Given the description of an element on the screen output the (x, y) to click on. 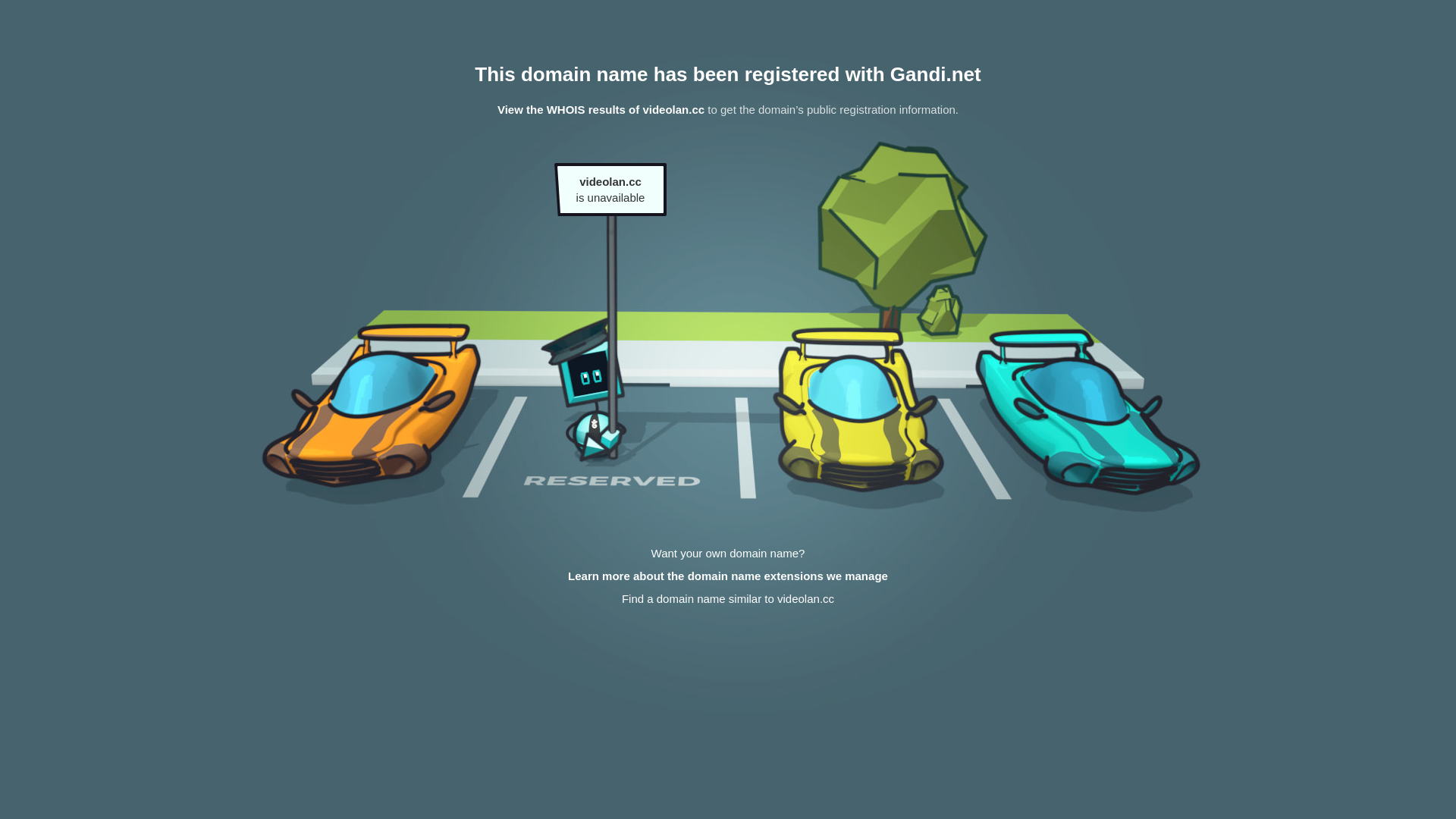
View the WHOIS results of videolan.cc Element type: text (600, 109)
Learn more about the domain name extensions we manage Element type: text (727, 575)
Find a domain name similar to videolan.cc Element type: text (727, 598)
